Given the description of an element on the screen output the (x, y) to click on. 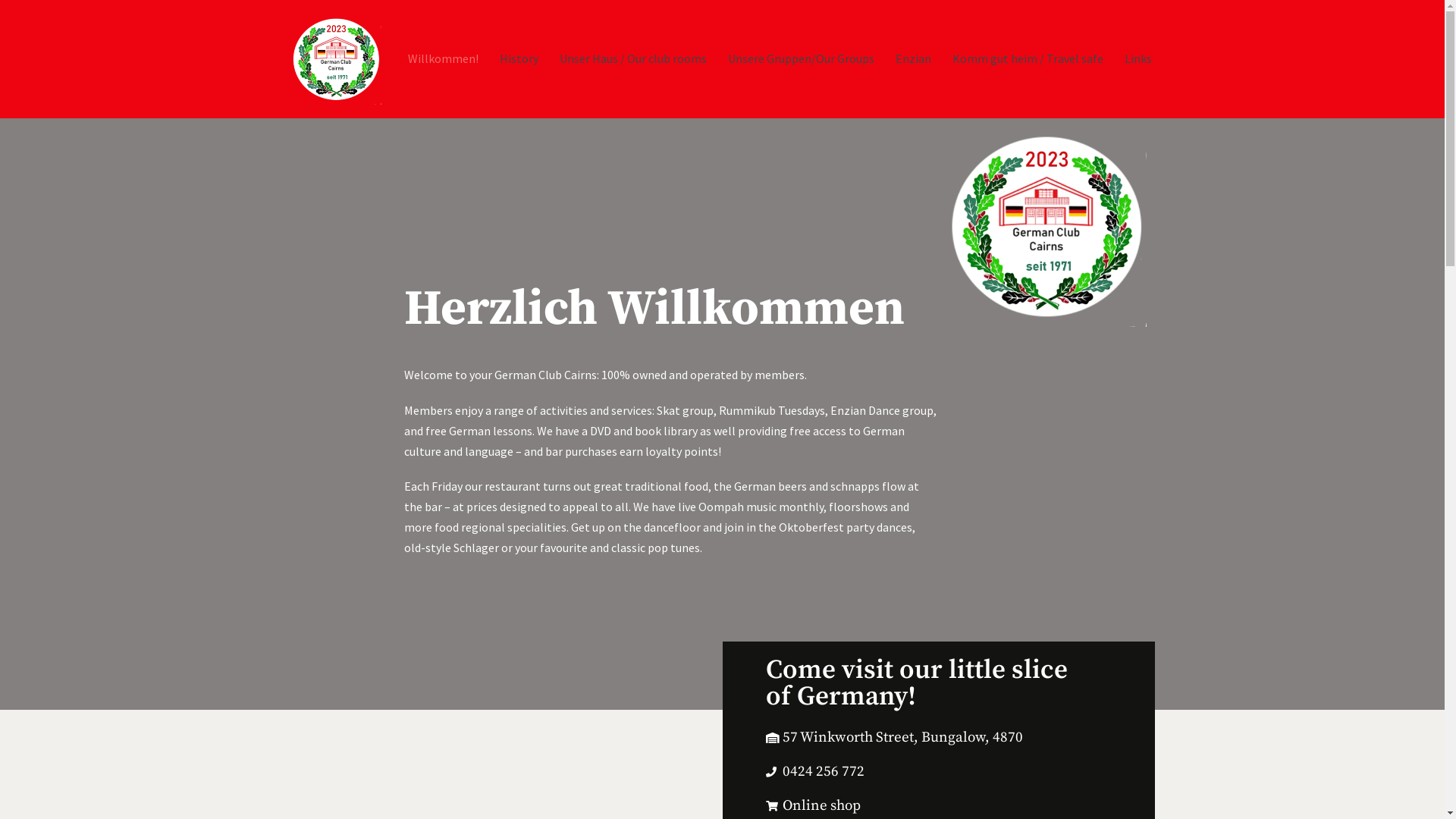
Online shop Element type: text (959, 805)
History Element type: text (517, 58)
Unser Haus / Our club rooms Element type: text (632, 58)
German Austrian Swiss Association FNQ Element type: hover (334, 58)
Enzian Element type: text (912, 58)
Komm gut heim / Travel safe Element type: text (1027, 58)
Links Element type: text (1137, 58)
Willkommen! Element type: text (442, 58)
Unsere Gruppen/Our Groups Element type: text (801, 58)
Skip to content Element type: text (15, 7)
